Given the description of an element on the screen output the (x, y) to click on. 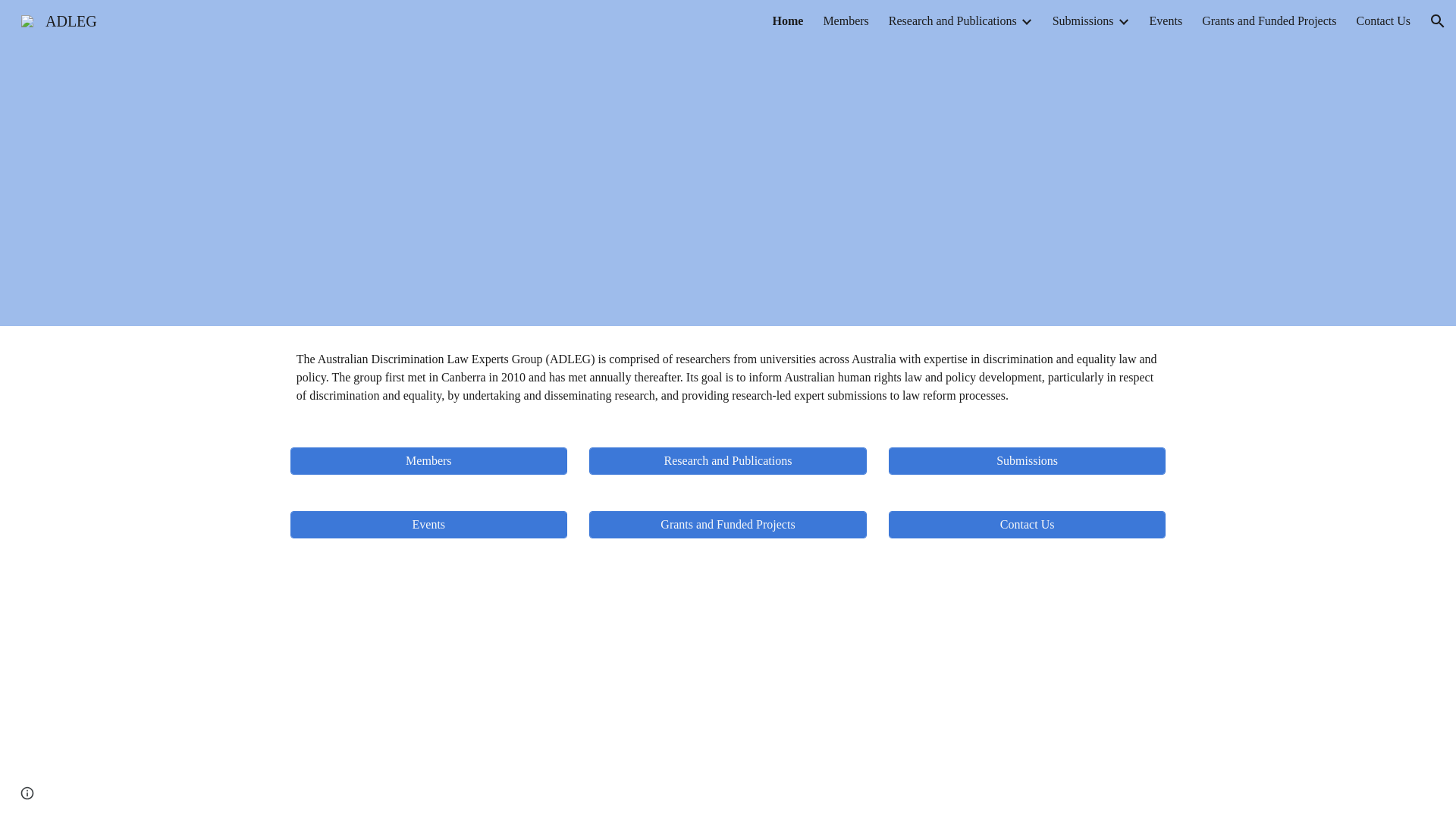
Grants and Funded Projects Element type: text (1268, 21)
Expand/Collapse Element type: hover (1025, 21)
Research and Publications Element type: text (727, 461)
Home Element type: text (787, 21)
Contact Us Element type: text (1382, 21)
Events Element type: text (1166, 21)
Members Element type: text (428, 461)
Research and Publications Element type: text (952, 21)
Contact Us Element type: text (1026, 524)
Grants and Funded Projects Element type: text (727, 524)
Events Element type: text (428, 524)
Submissions Element type: text (1082, 21)
Members Element type: text (845, 21)
ADLEG Element type: text (59, 19)
Submissions Element type: text (1026, 461)
Expand/Collapse Element type: hover (1122, 21)
